Given the description of an element on the screen output the (x, y) to click on. 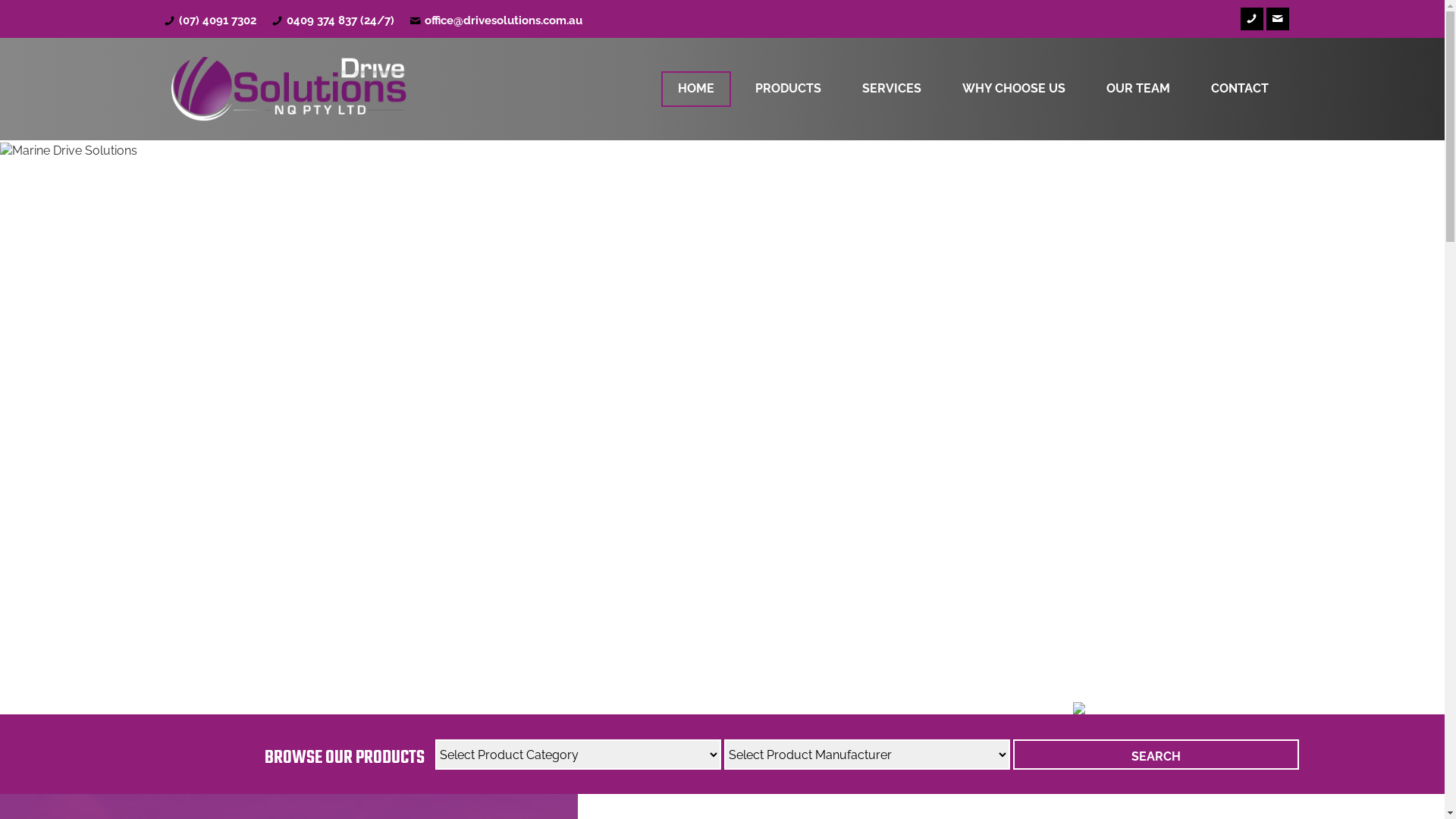
0409 374 837 Element type: text (321, 20)
WHY CHOOSE US Element type: text (1012, 88)
HOME Element type: text (696, 88)
OUR TEAM Element type: text (1137, 88)
CONTACT Element type: text (1238, 88)
SERVICES Element type: text (890, 88)
office@drivesolutions.com.au Element type: text (503, 20)
SEARCH Element type: text (1156, 754)
PRODUCTS Element type: text (787, 88)
(07) 4091 7302 Element type: text (217, 20)
